Given the description of an element on the screen output the (x, y) to click on. 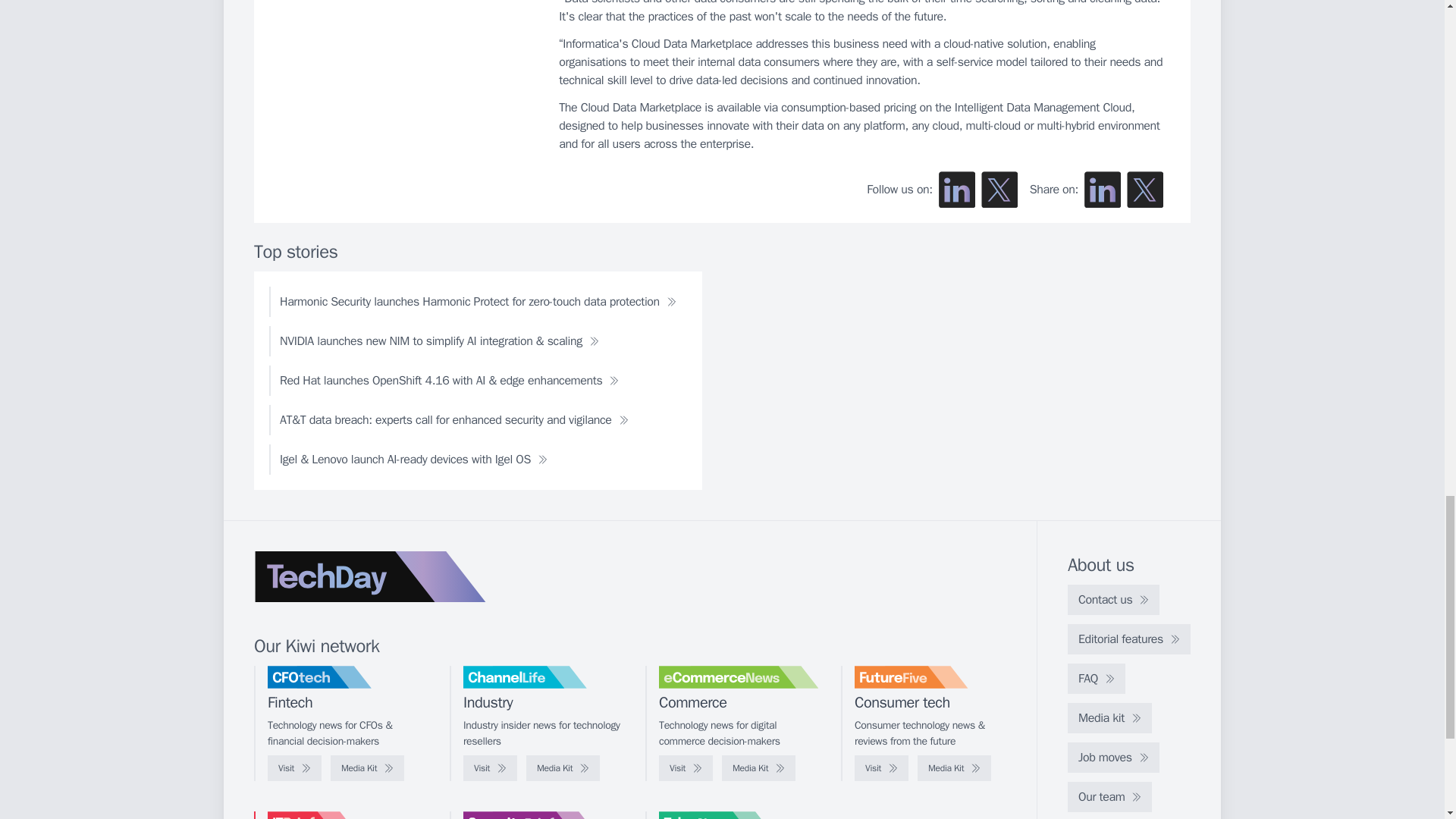
Visit (881, 768)
Media Kit (367, 768)
Media Kit (562, 768)
Visit (686, 768)
Visit (294, 768)
Media Kit (954, 768)
Visit (489, 768)
Media Kit (758, 768)
